Given the description of an element on the screen output the (x, y) to click on. 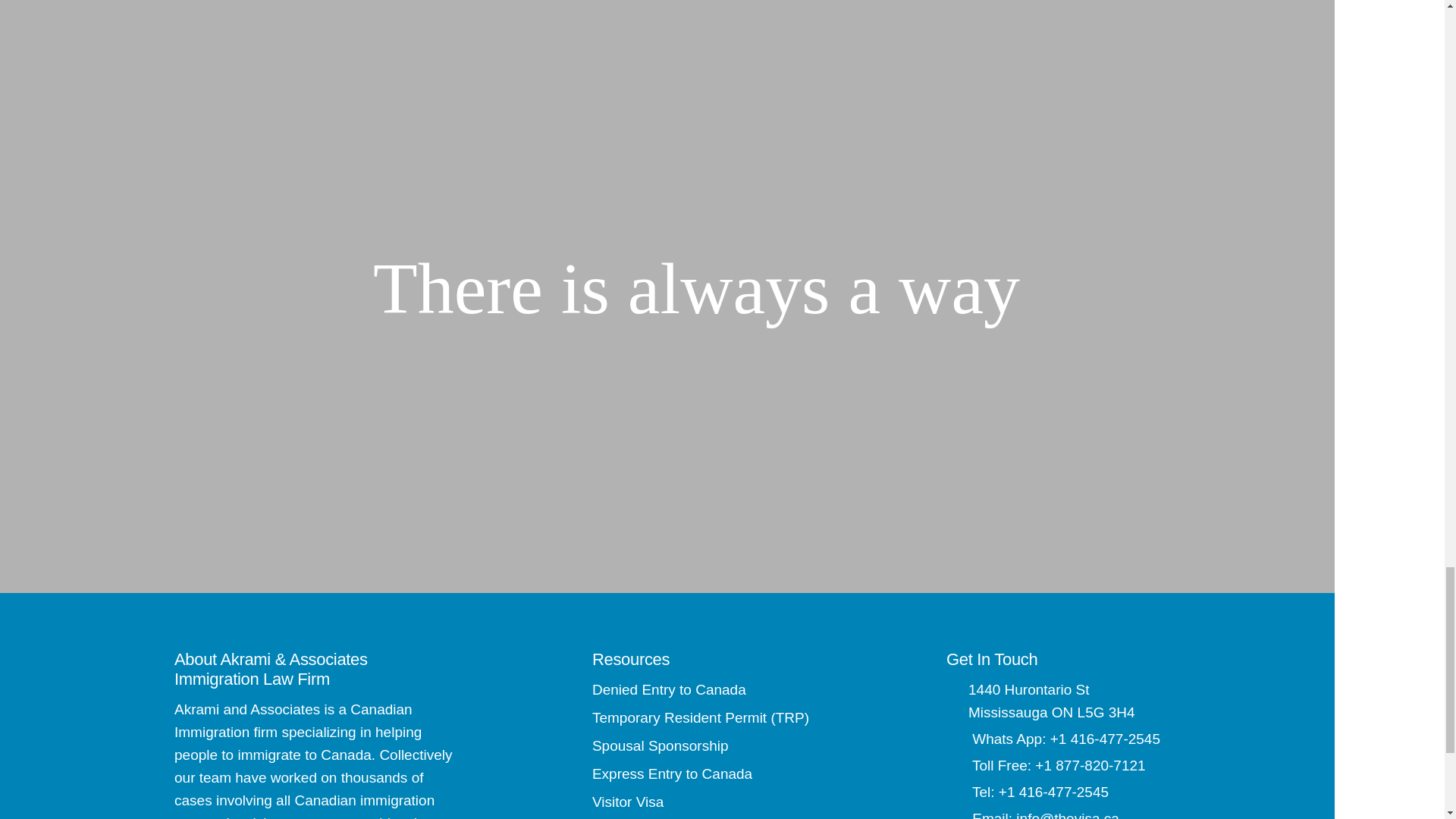
logo-element (336, 289)
